Given the description of an element on the screen output the (x, y) to click on. 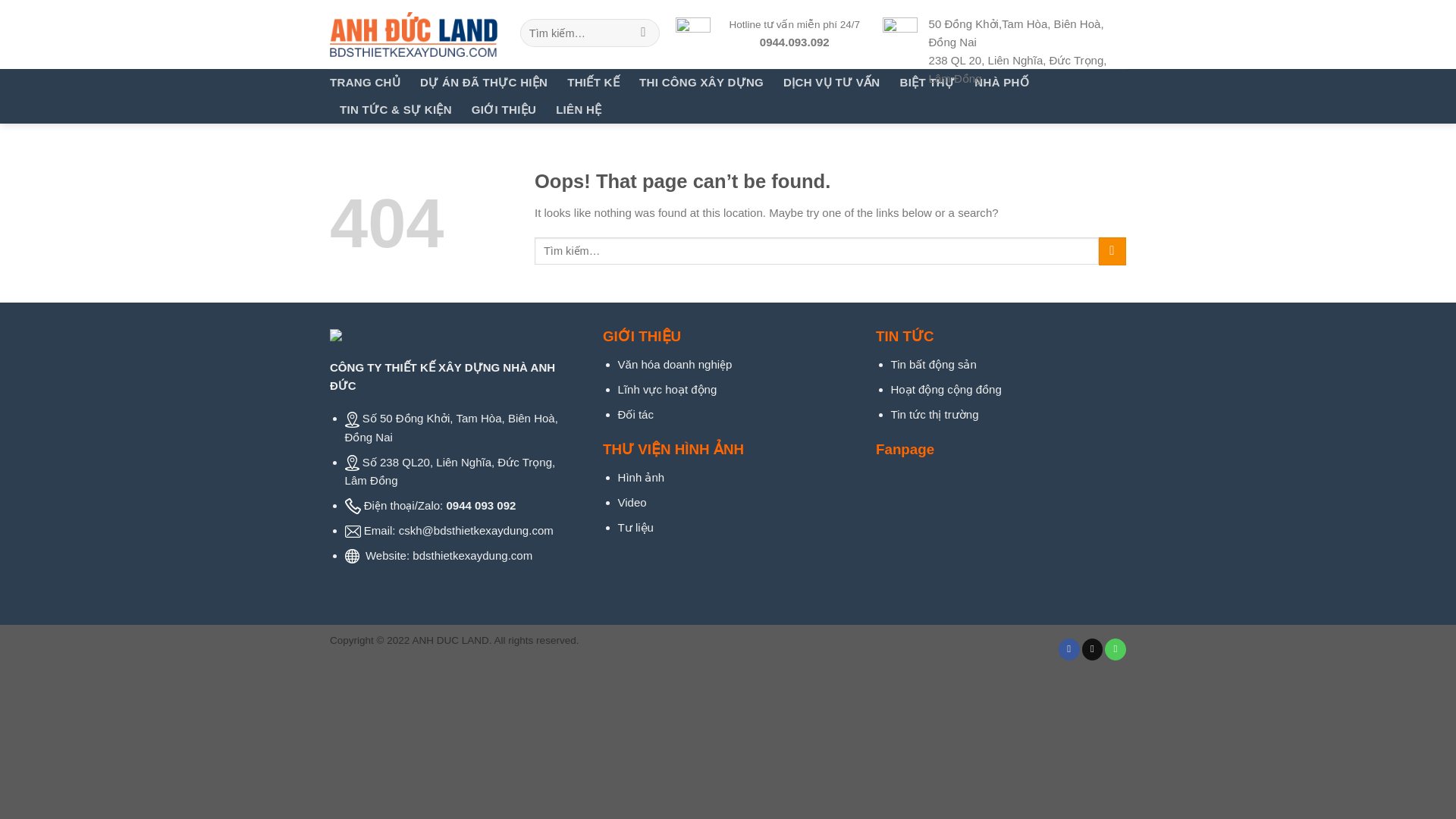
Send us an email (1092, 649)
Follow on Facebook (1069, 649)
Call us (1115, 649)
Video (631, 502)
bdsthietkexaydung.com (472, 554)
Video (631, 502)
